Given the description of an element on the screen output the (x, y) to click on. 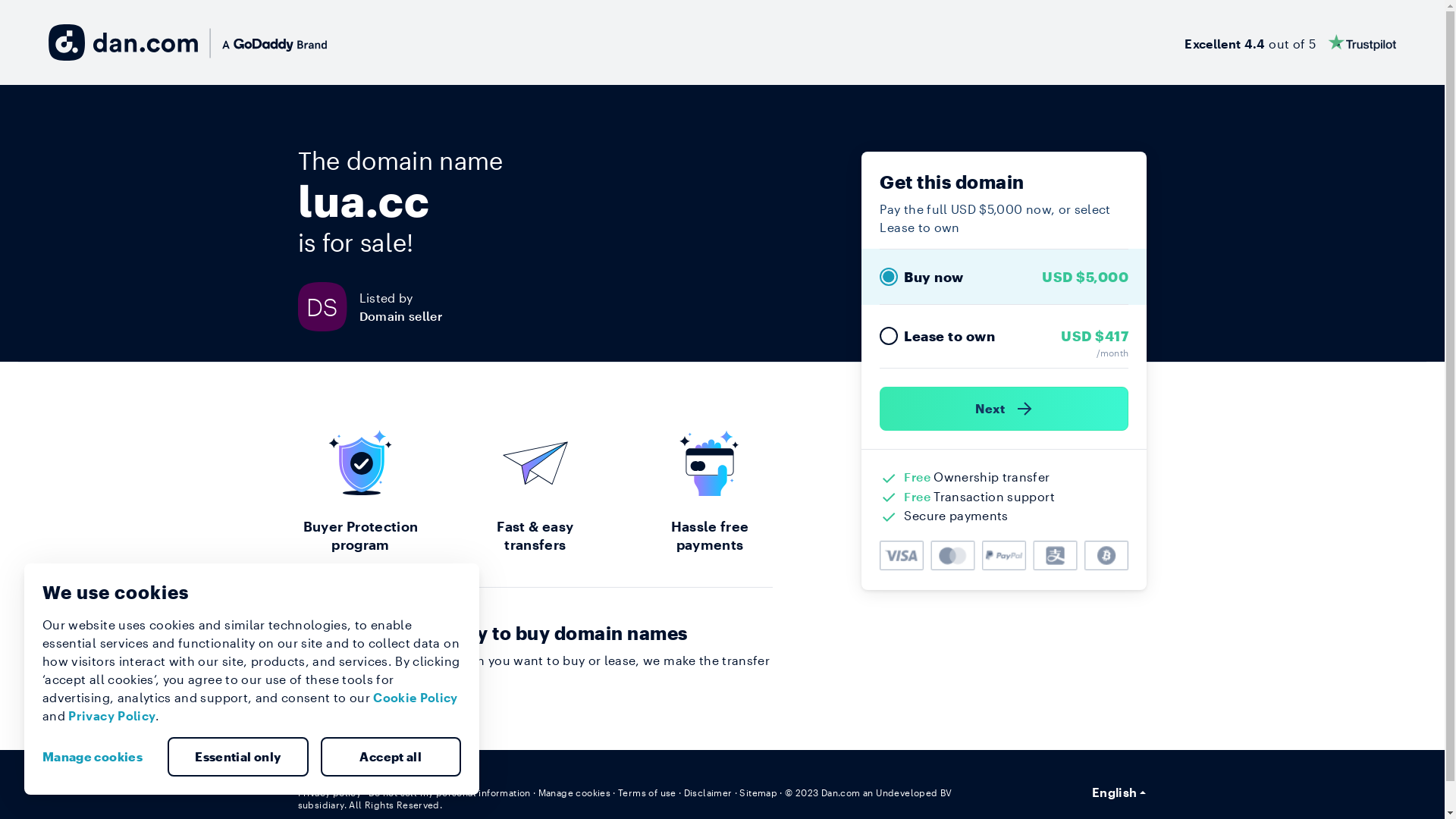
Do not sell my personal information Element type: text (449, 792)
Accept all Element type: text (390, 756)
Manage cookies Element type: text (574, 792)
Privacy policy Element type: text (328, 792)
Privacy Policy Element type: text (111, 715)
Sitemap Element type: text (758, 792)
Terms of use Element type: text (647, 792)
Excellent 4.4 out of 5 Element type: text (1290, 42)
Manage cookies Element type: text (98, 756)
Cookie Policy Element type: text (415, 697)
English Element type: text (1119, 792)
DS Element type: text (327, 306)
Disclaimer Element type: text (708, 792)
Next
) Element type: text (1003, 408)
Essential only Element type: text (237, 756)
